Given the description of an element on the screen output the (x, y) to click on. 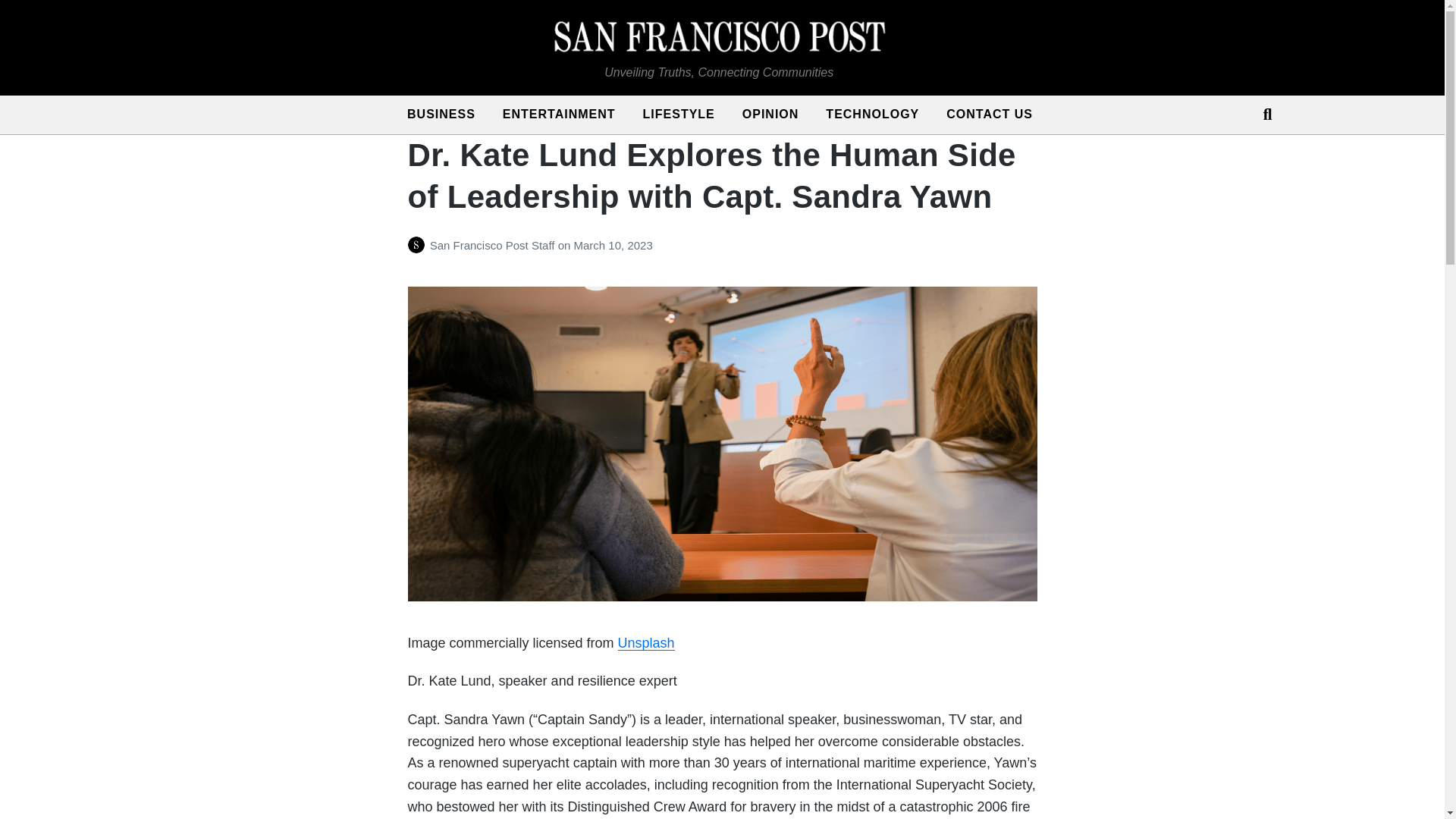
OPINION (770, 114)
CONTACT US (989, 114)
TECHNOLOGY (872, 114)
BUSINESS (441, 114)
LIFESTYLE (678, 114)
Posts by San Francisco Post Staff (418, 245)
San Francisco Post Staff (493, 245)
Search (1259, 114)
ENTERTAINMENT (558, 114)
